Given the description of an element on the screen output the (x, y) to click on. 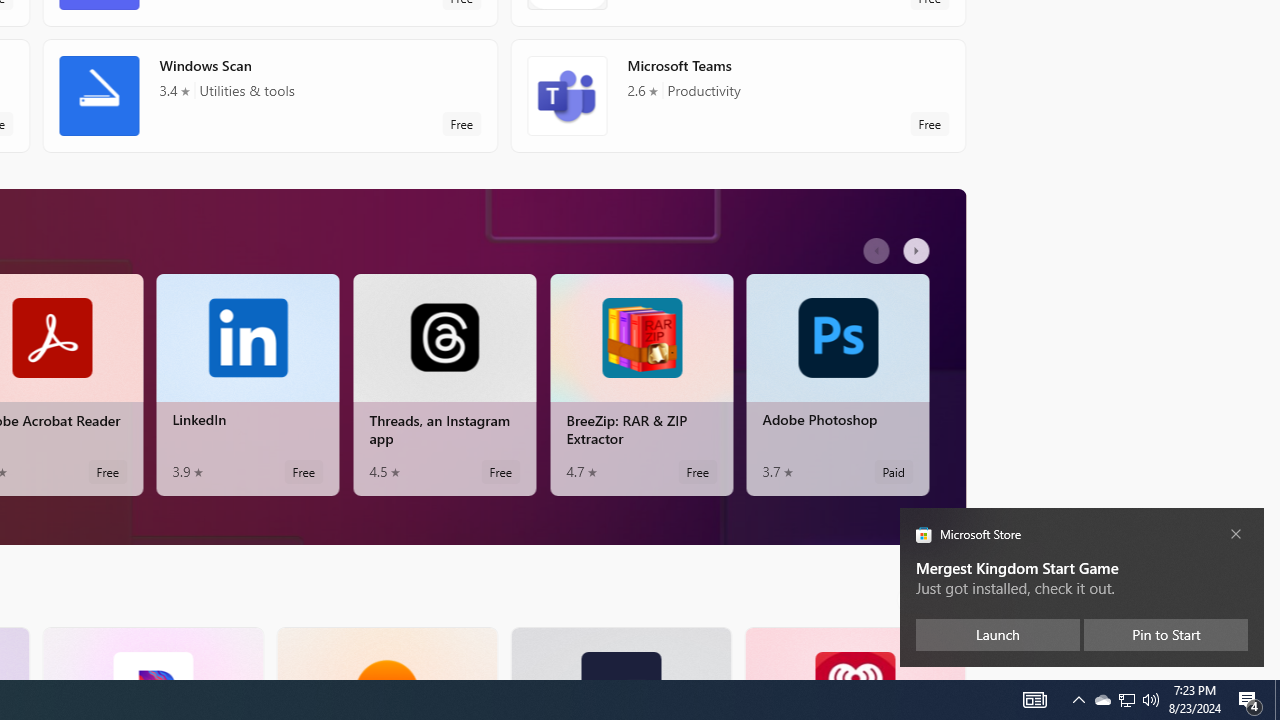
Pandora. Average rating of 4.5 out of five stars. Free   (152, 653)
AutomationID: LeftScrollButton (913, 599)
AutomationID: RightScrollButton (952, 599)
LinkedIn. Average rating of 3.9 out of five stars. Free   (247, 384)
